Given the description of an element on the screen output the (x, y) to click on. 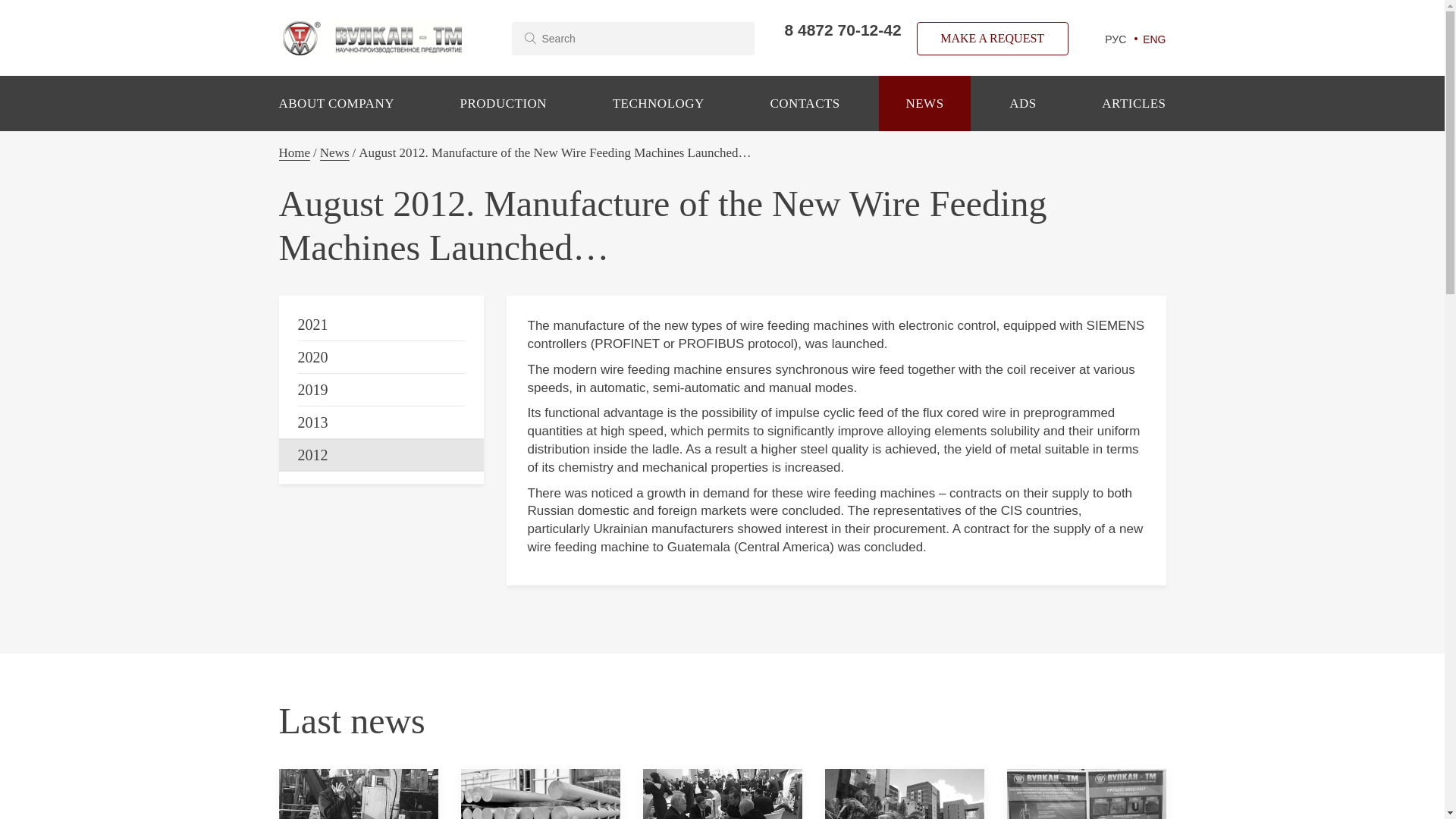
ENG (1154, 39)
2021 (380, 324)
TECHNOLOGY (658, 103)
CONTACTS (804, 103)
ABOUT COMPANY (335, 103)
Home (295, 152)
ARTICLES (1133, 103)
NEWS (924, 103)
PRODUCTION (503, 103)
News (334, 152)
